Given the description of an element on the screen output the (x, y) to click on. 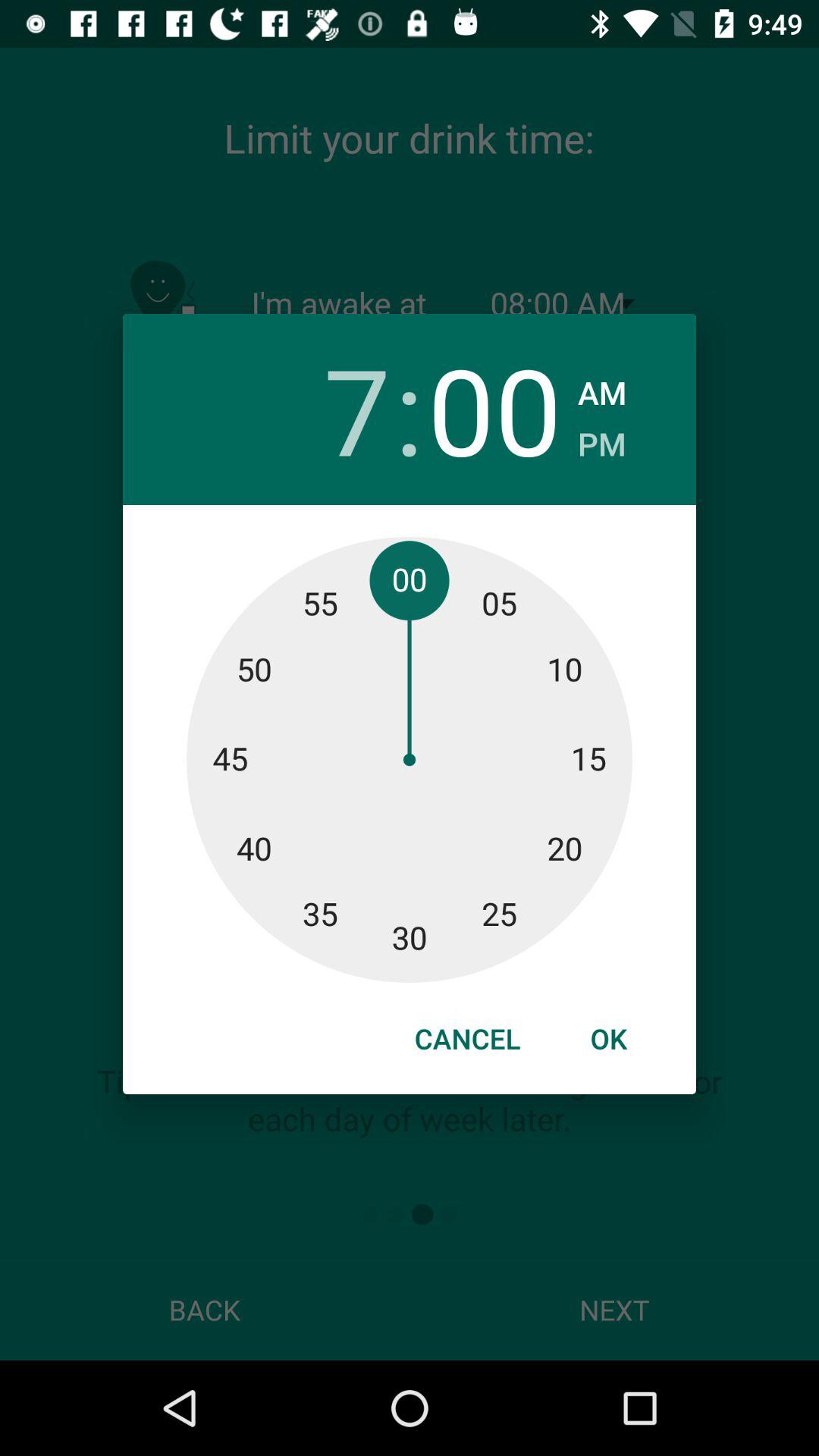
click item next to the 00 app (601, 439)
